Given the description of an element on the screen output the (x, y) to click on. 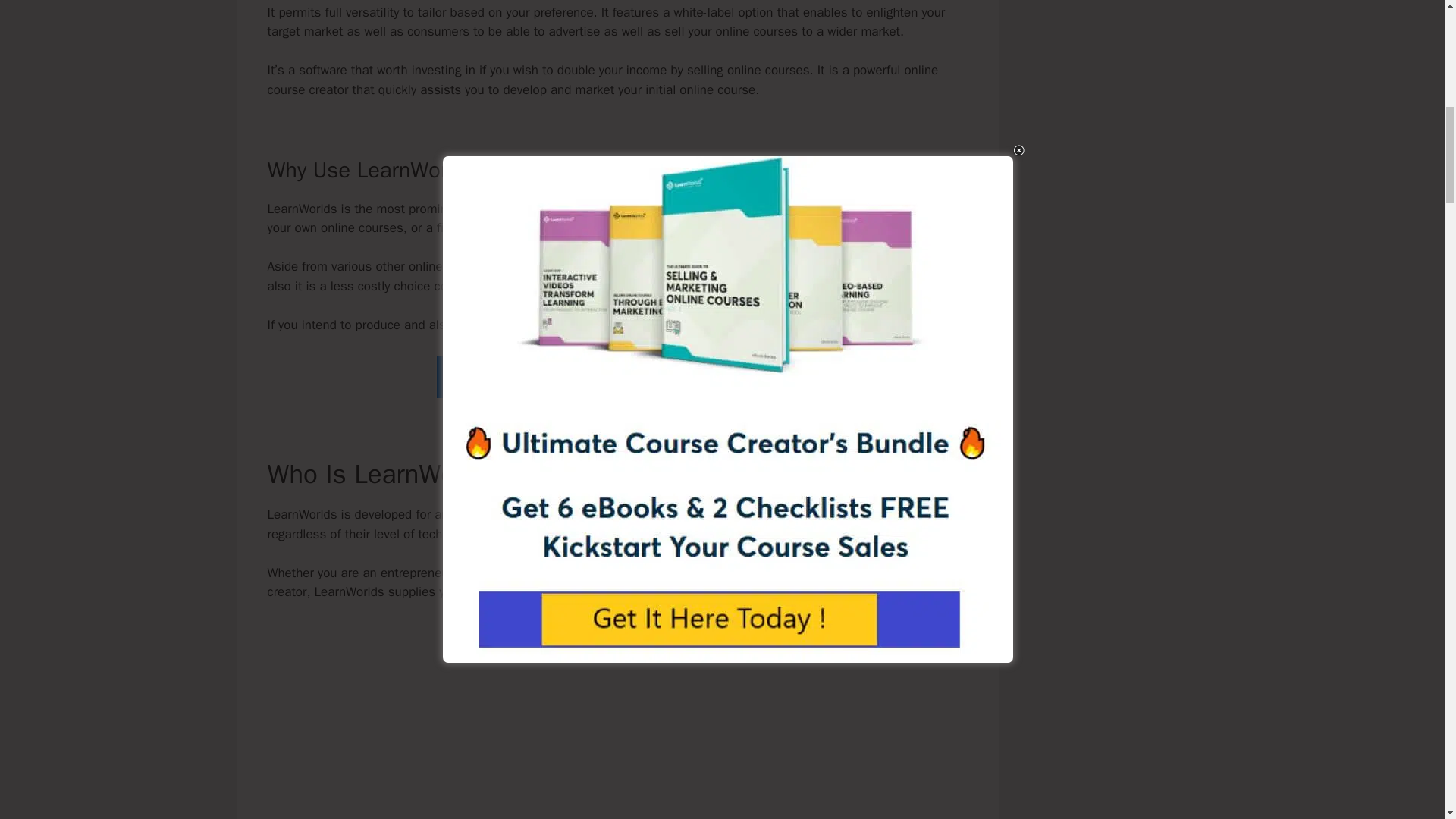
Scroll back to top (1406, 720)
Visit Here To See LearnWorlds In Action (616, 377)
